Given the description of an element on the screen output the (x, y) to click on. 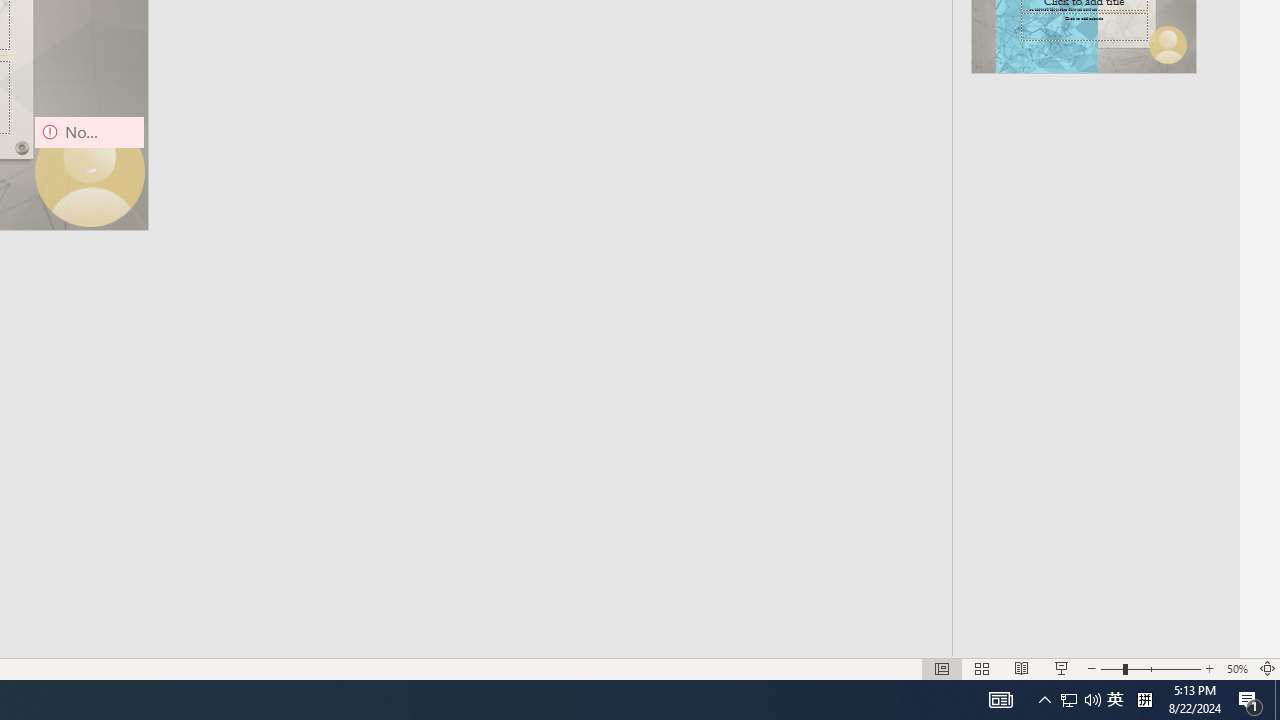
Zoom 50% (1236, 668)
Camera 9, No camera detected. (89, 171)
